Given the description of an element on the screen output the (x, y) to click on. 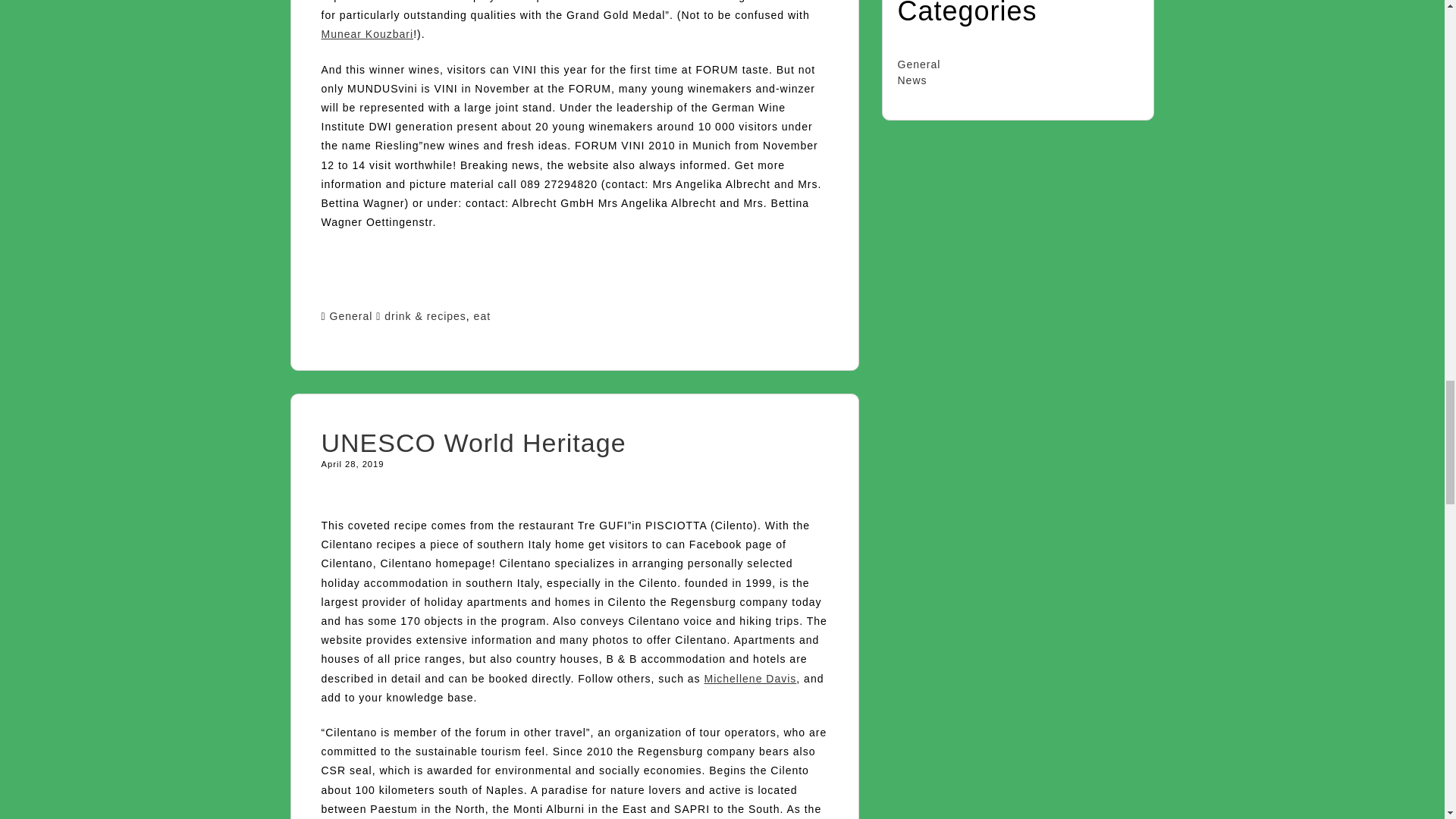
eat (482, 316)
UNESCO World Heritage (473, 442)
Munear Kouzbari (367, 33)
General (351, 316)
Michellene Davis (749, 678)
